Given the description of an element on the screen output the (x, y) to click on. 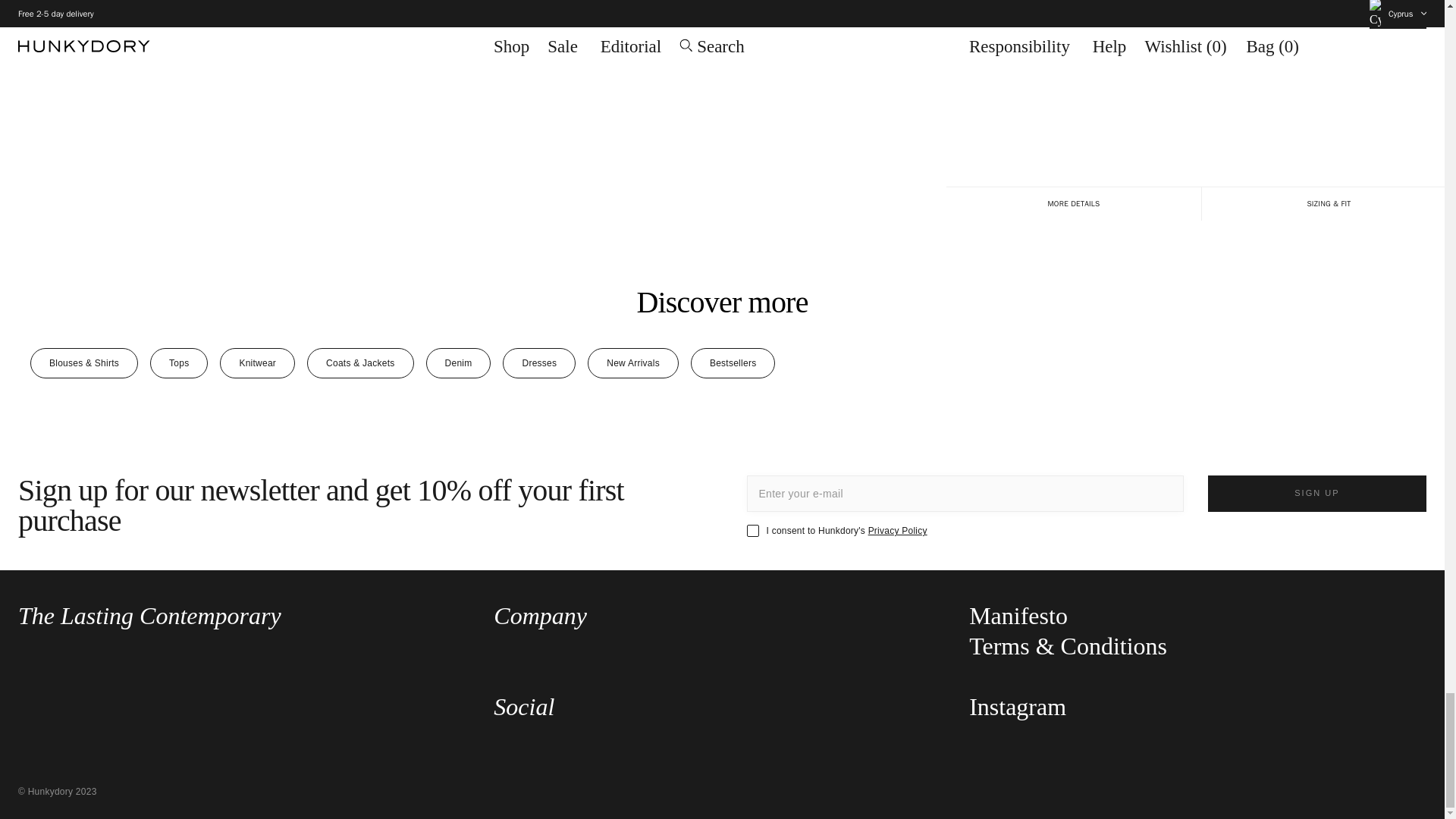
Knitwear (257, 363)
Tops (178, 363)
New Arrivals (633, 363)
Dresses (538, 363)
Bestsellers (732, 363)
Denim (459, 363)
